Given the description of an element on the screen output the (x, y) to click on. 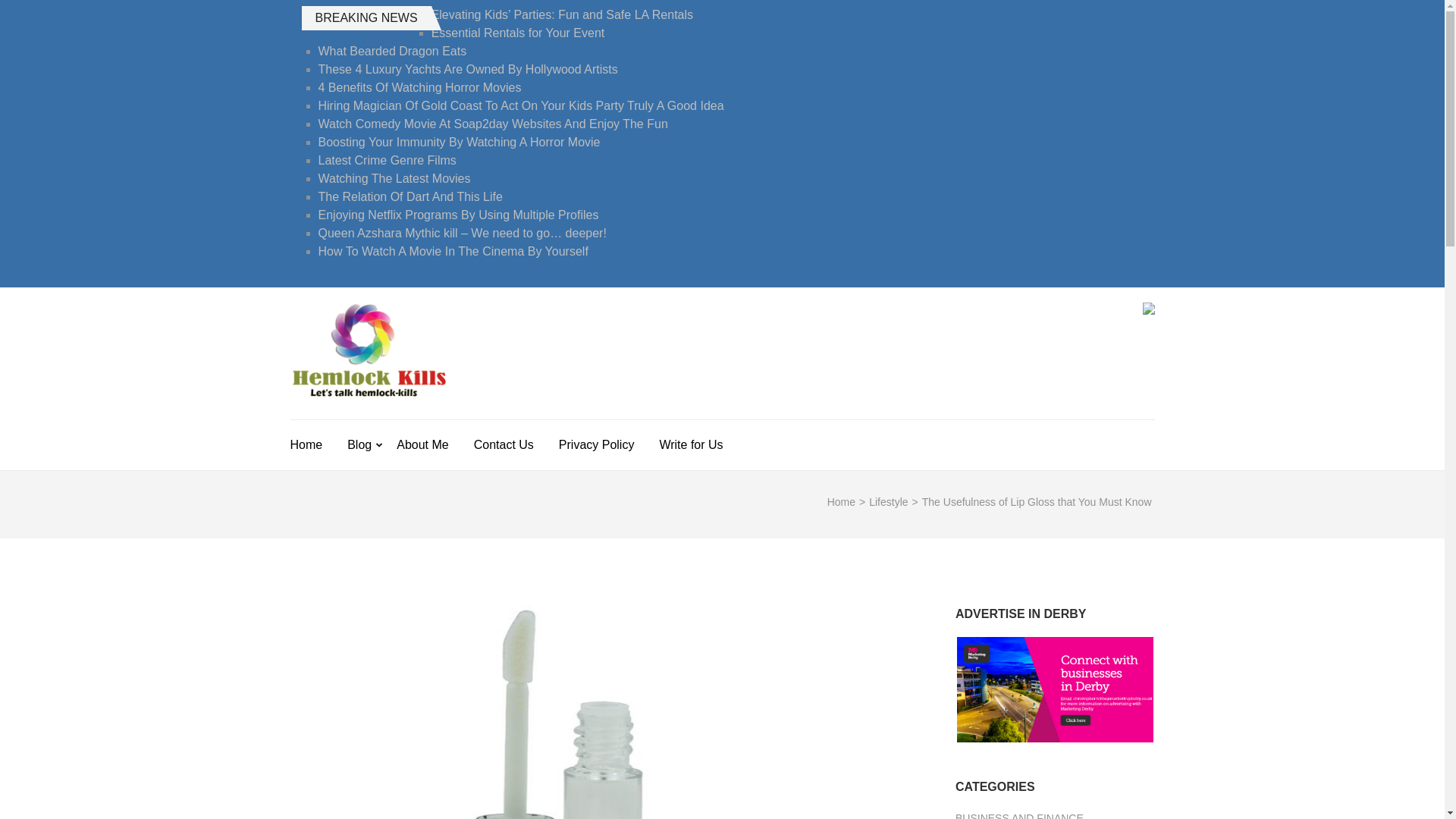
Watch Comedy Movie At Soap2day Websites And Enjoy The Fun (493, 123)
These 4 Luxury Yachts Are Owned By Hollywood Artists (467, 69)
Watch Comedy Movie At Soap2day Websites And Enjoy The Fun (493, 123)
Boosting Your Immunity By Watching A Horror Movie (458, 141)
Watching The Latest Movies (394, 178)
Watching The Latest Movies (394, 178)
What Bearded Dragon Eats (392, 51)
These 4 Luxury Yachts Are Owned By Hollywood Artists (467, 69)
BREAKING NEWS (365, 17)
